Given the description of an element on the screen output the (x, y) to click on. 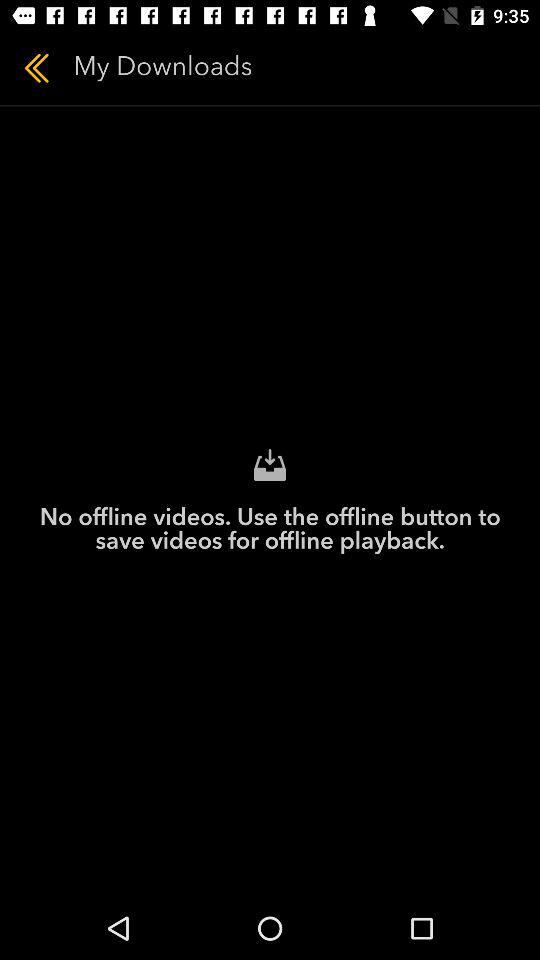
tap item to the left of my downloads icon (36, 68)
